Given the description of an element on the screen output the (x, y) to click on. 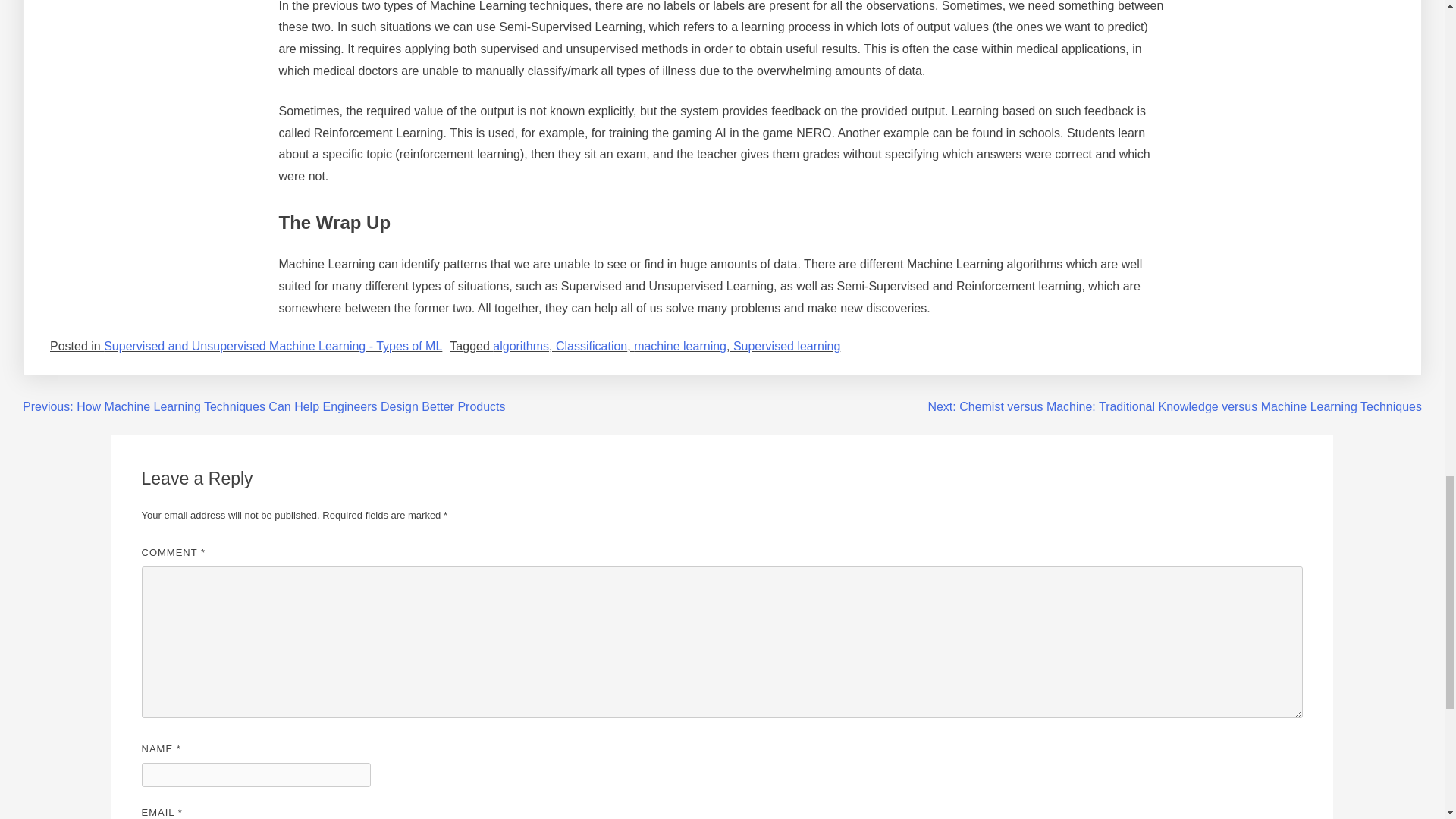
algorithms (520, 345)
Classification (591, 345)
Supervised and Unsupervised Machine Learning - Types of ML (272, 345)
machine learning (679, 345)
Supervised learning (786, 345)
